Given the description of an element on the screen output the (x, y) to click on. 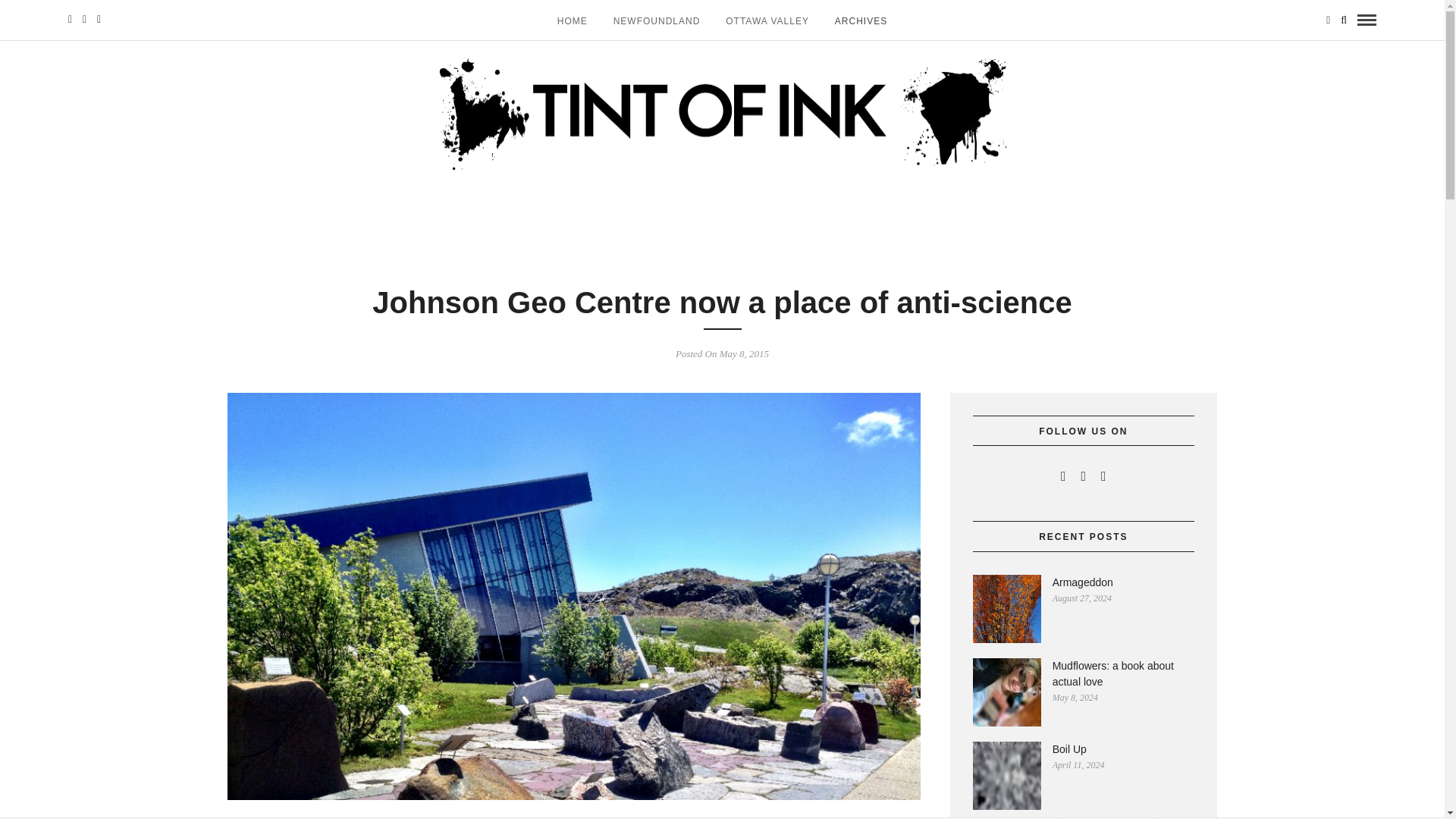
HOME (572, 20)
OTTAWA VALLEY (767, 20)
NEWFOUNDLAND (656, 20)
ARCHIVES (861, 20)
